Given the description of an element on the screen output the (x, y) to click on. 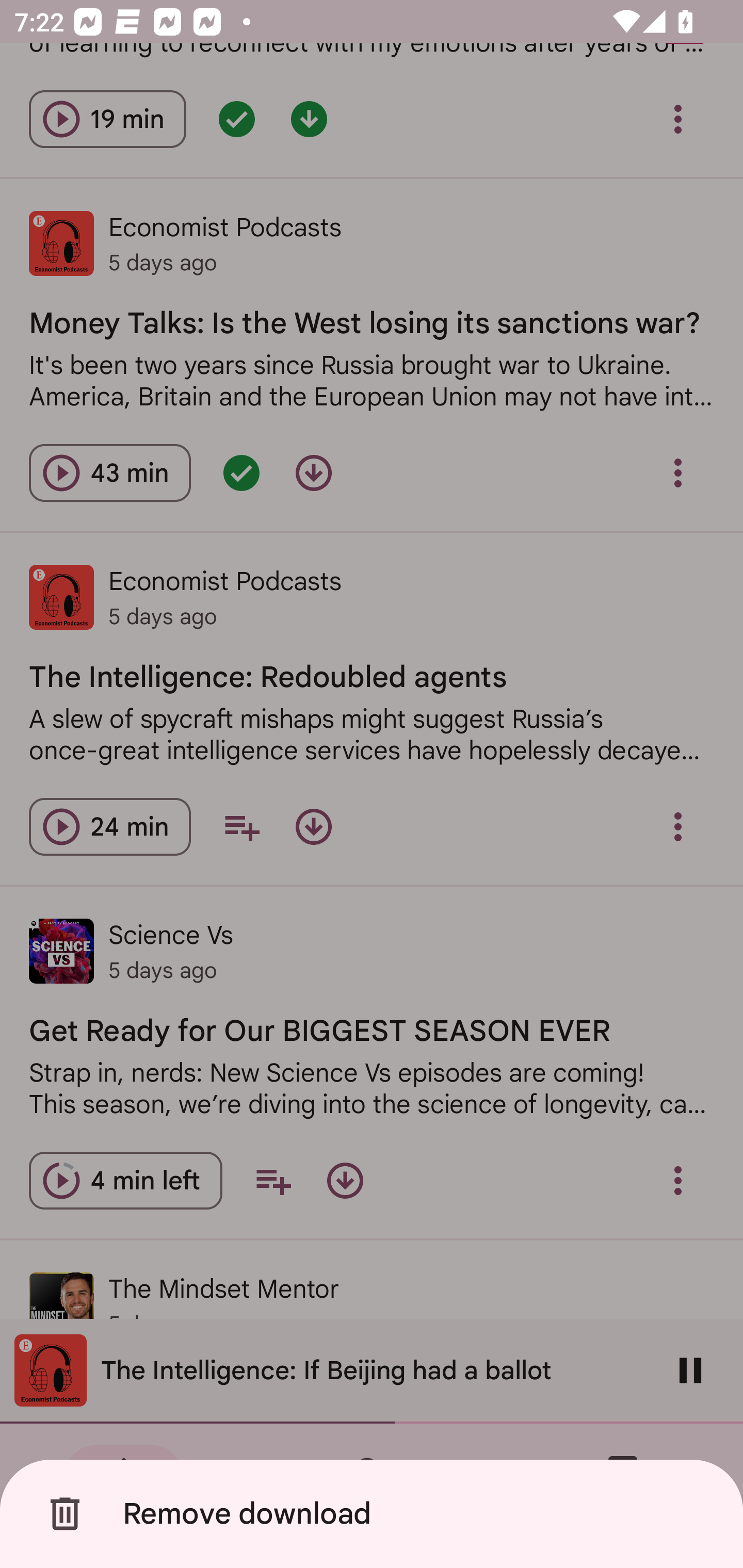
Remove download (375, 1513)
